Given the description of an element on the screen output the (x, y) to click on. 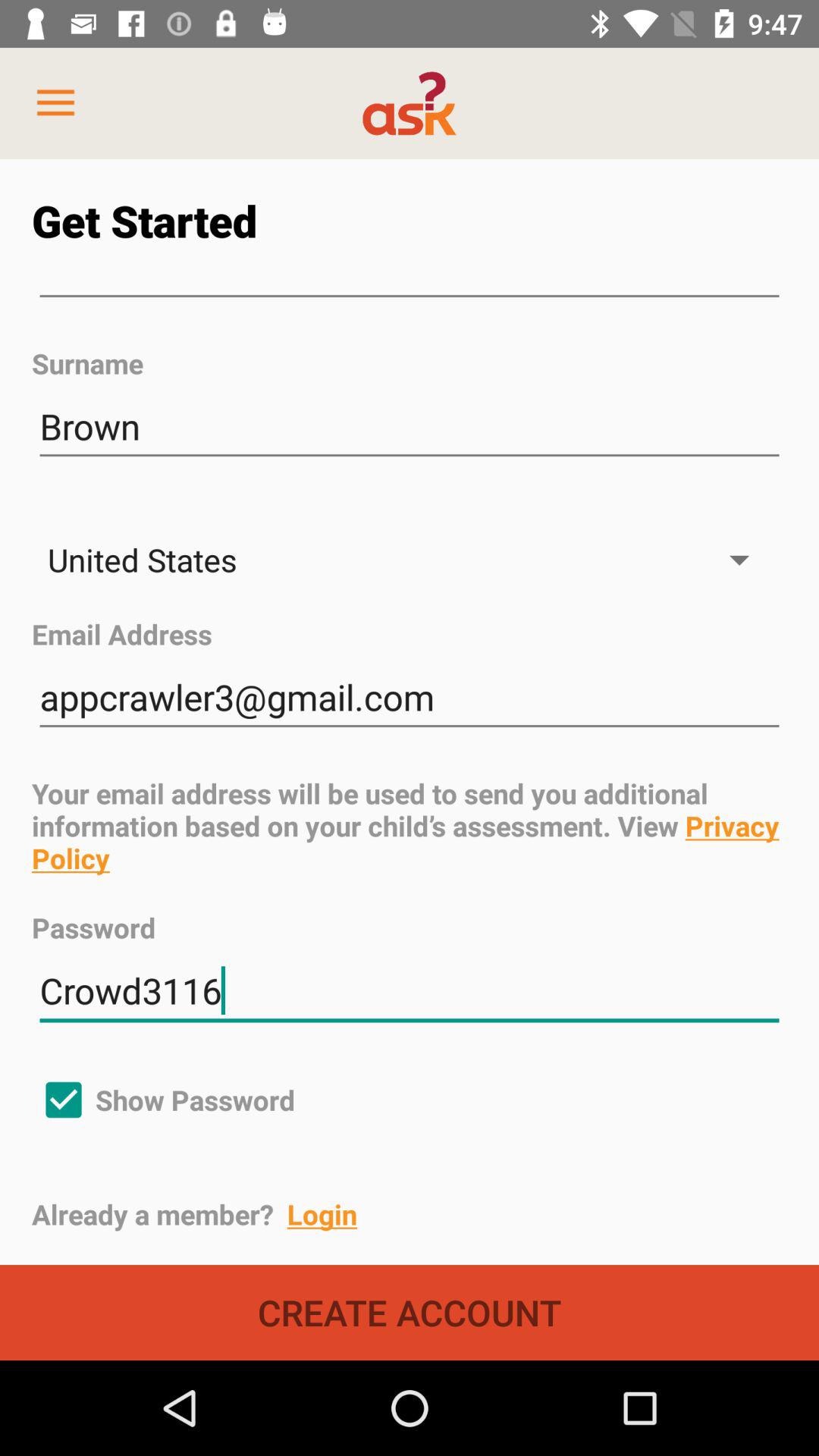
select item at the top left corner (55, 103)
